Given the description of an element on the screen output the (x, y) to click on. 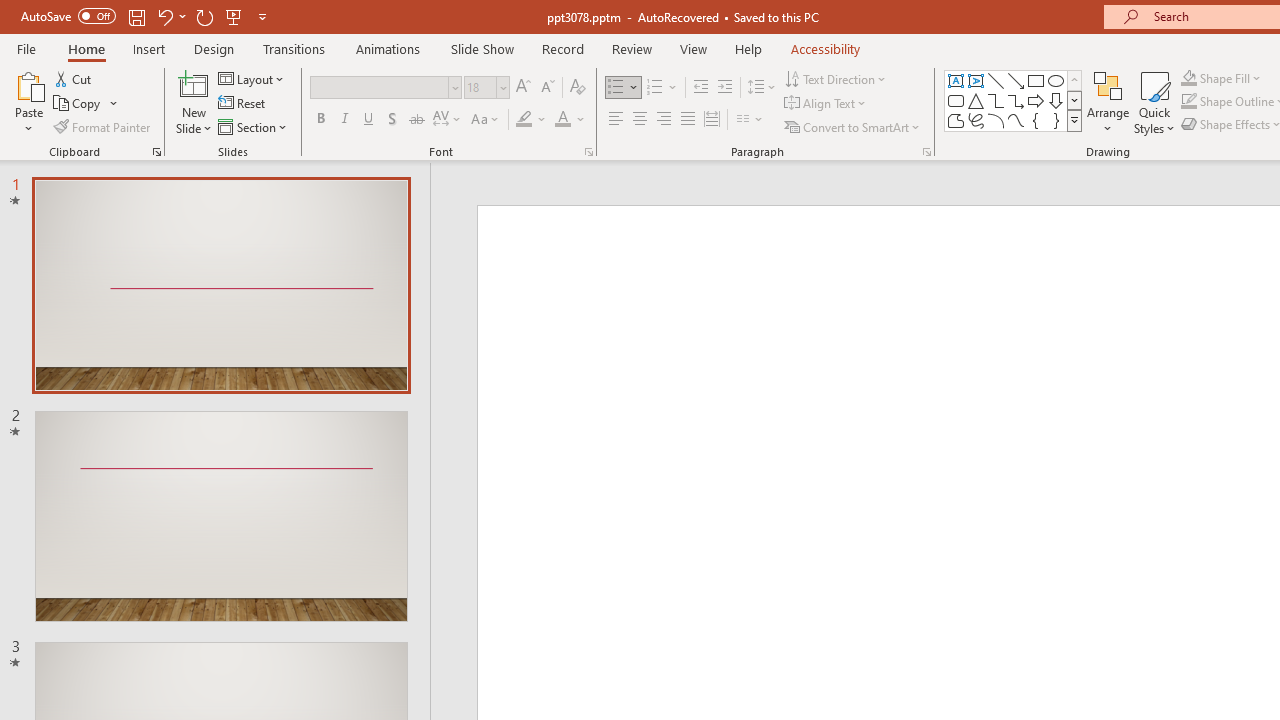
Shape Fill Dark Green, Accent 2 (1188, 78)
